Given the description of an element on the screen output the (x, y) to click on. 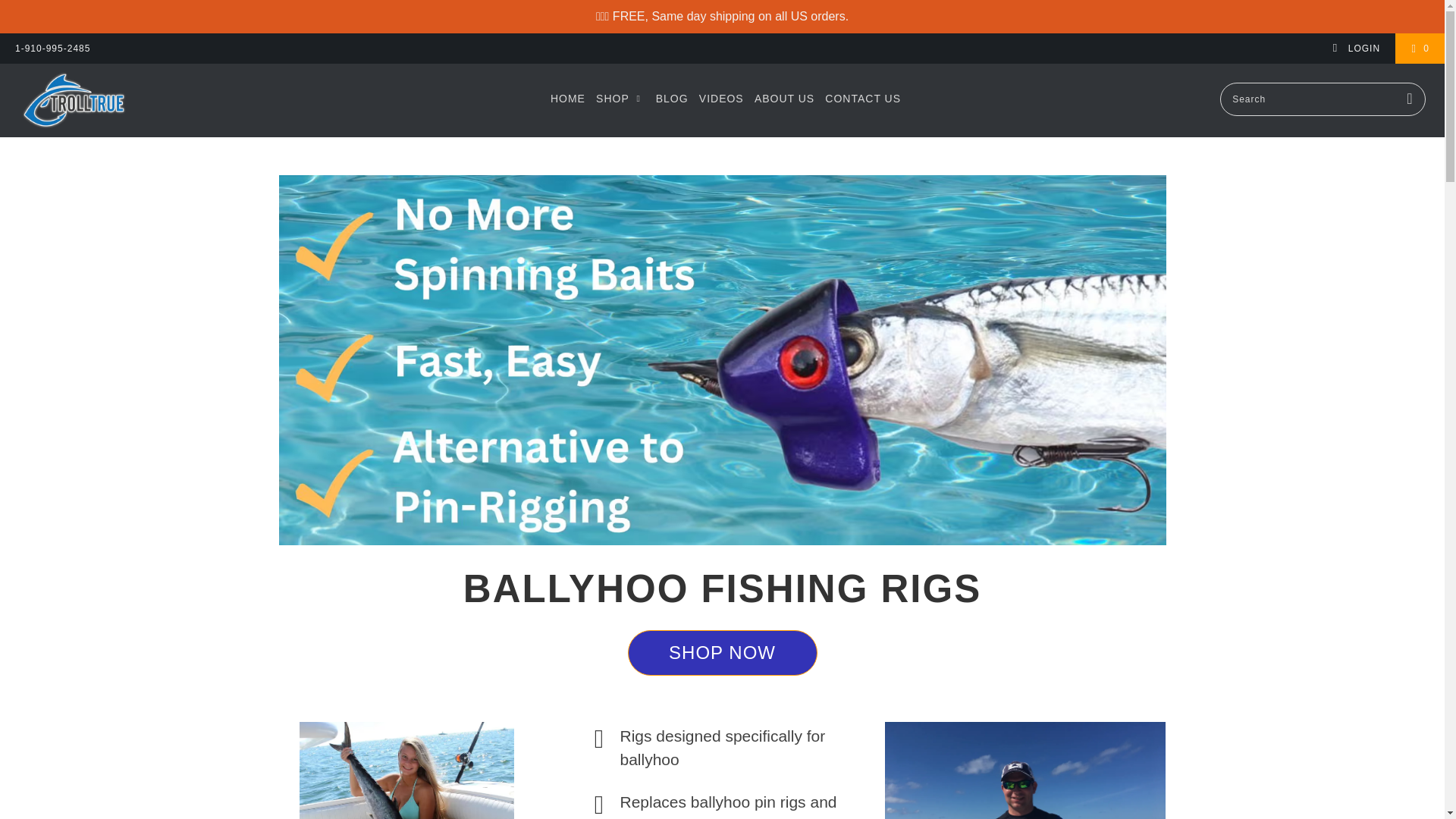
1-910-995-2485 (52, 48)
SHOP (620, 98)
LOGIN (1355, 48)
ABOUT US (783, 98)
CONTACT US (863, 98)
VIDEOS (721, 98)
SHOP NOW (721, 652)
TrollTrue (122, 100)
My Account  (1355, 48)
HOME (567, 98)
0 (1419, 48)
